Given the description of an element on the screen output the (x, y) to click on. 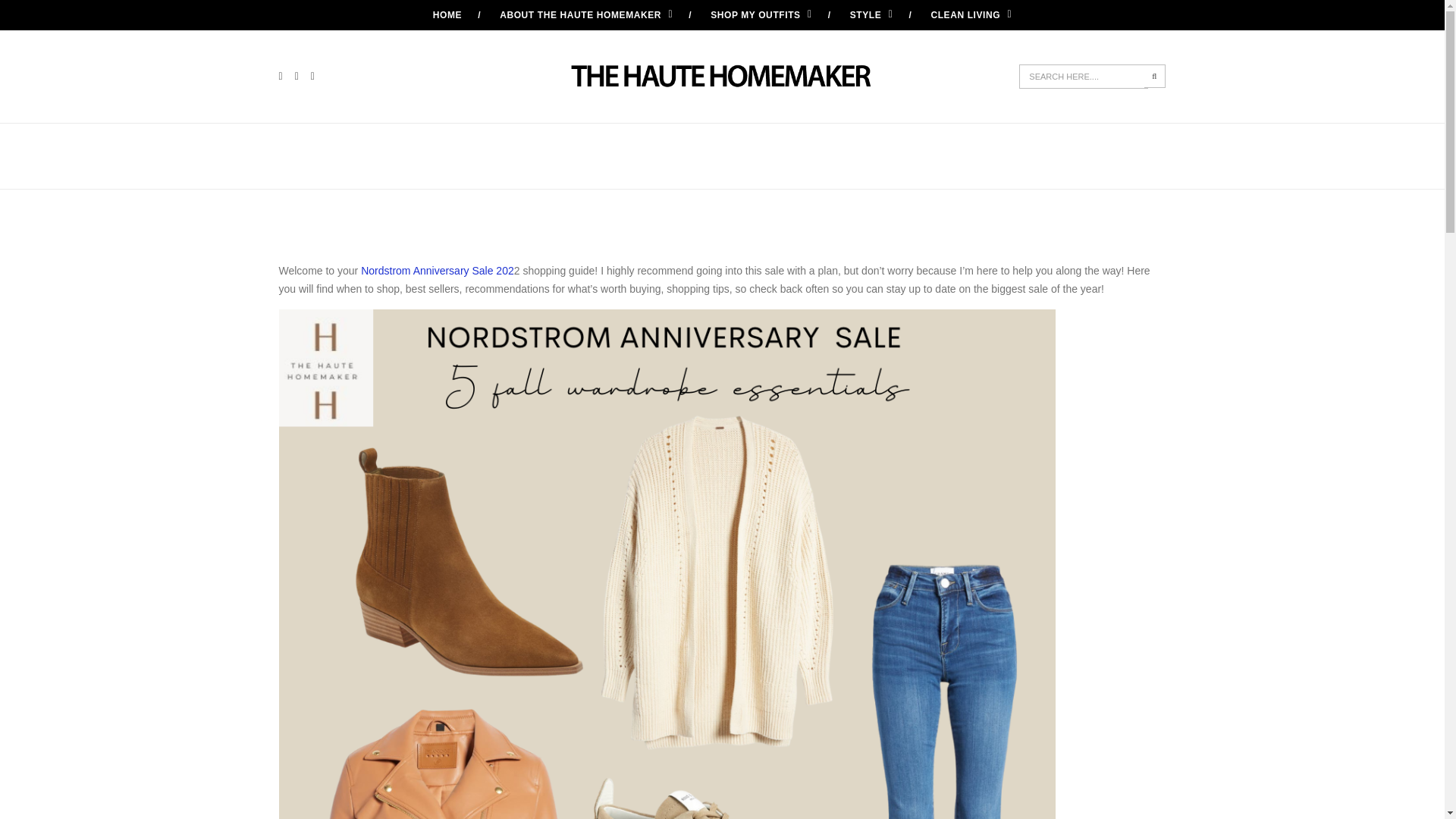
HOME (446, 15)
Nordstrom Anniversary Sale 202 (437, 270)
ABOUT THE HAUTE HOMEMAKER (585, 15)
CLEAN LIVING (970, 15)
STYLE (871, 15)
SHOP MY OUTFITS (761, 15)
